Given the description of an element on the screen output the (x, y) to click on. 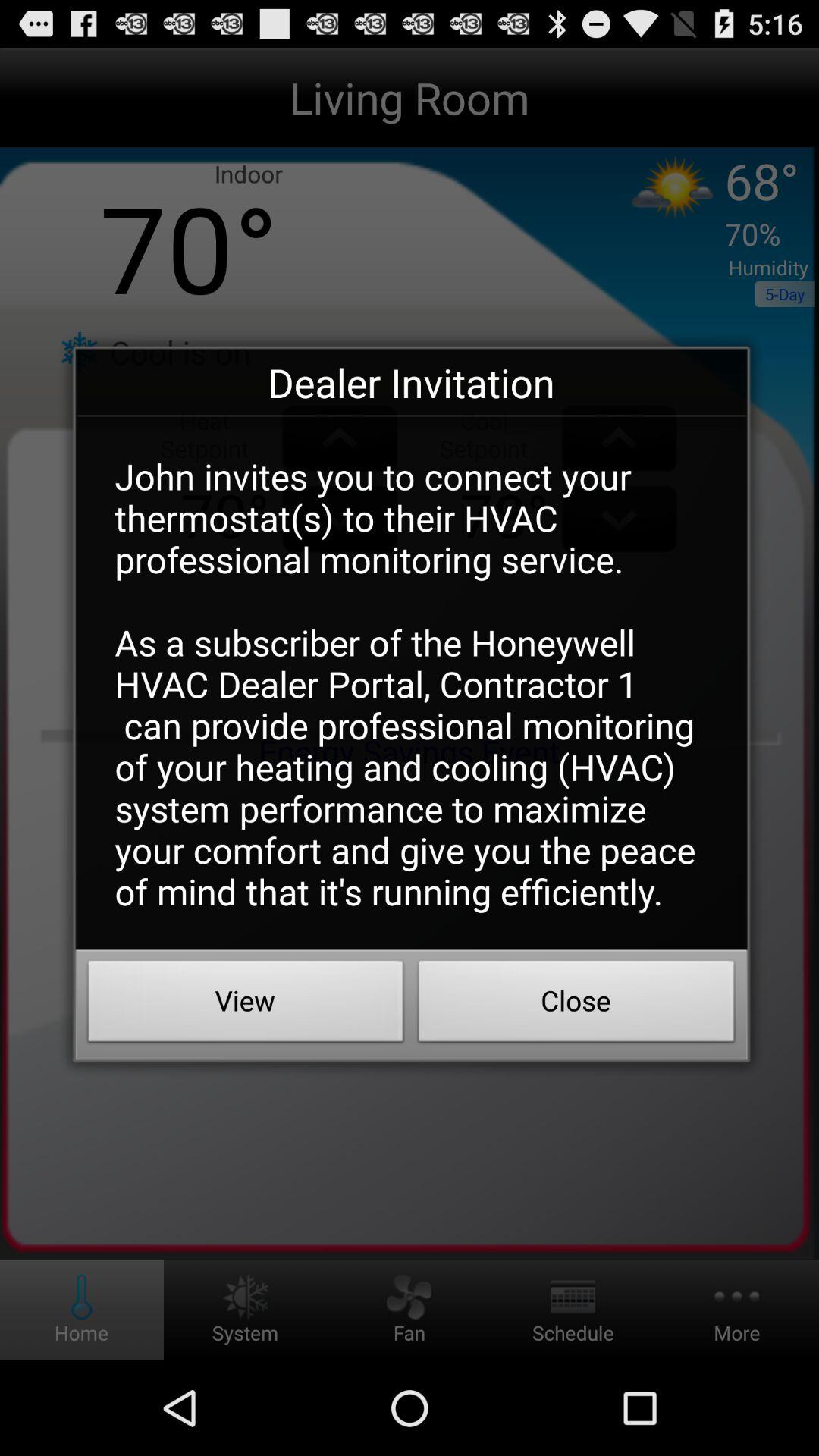
choose button to the left of close (245, 1005)
